Given the description of an element on the screen output the (x, y) to click on. 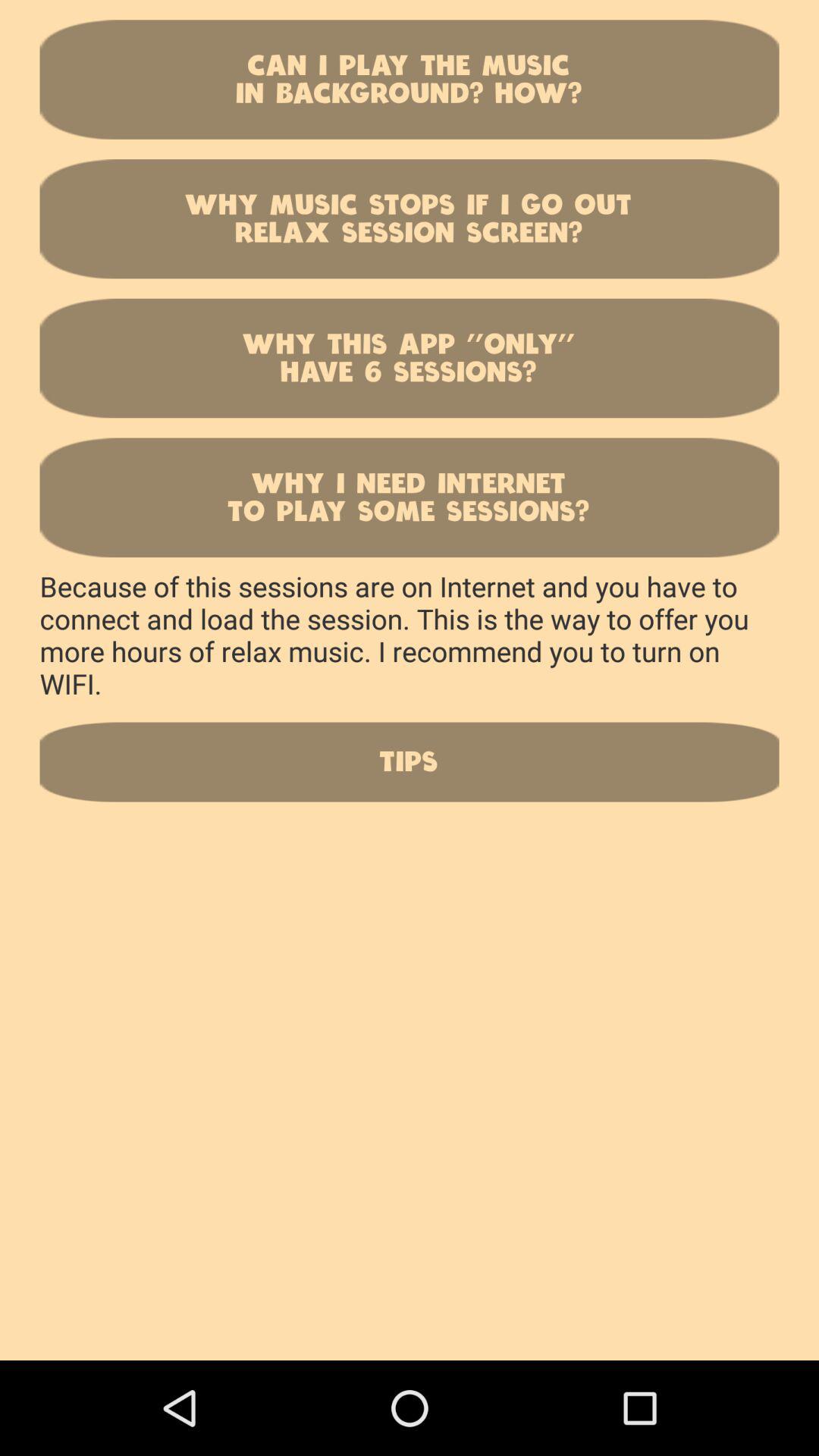
turn off the button above why i need button (409, 358)
